Given the description of an element on the screen output the (x, y) to click on. 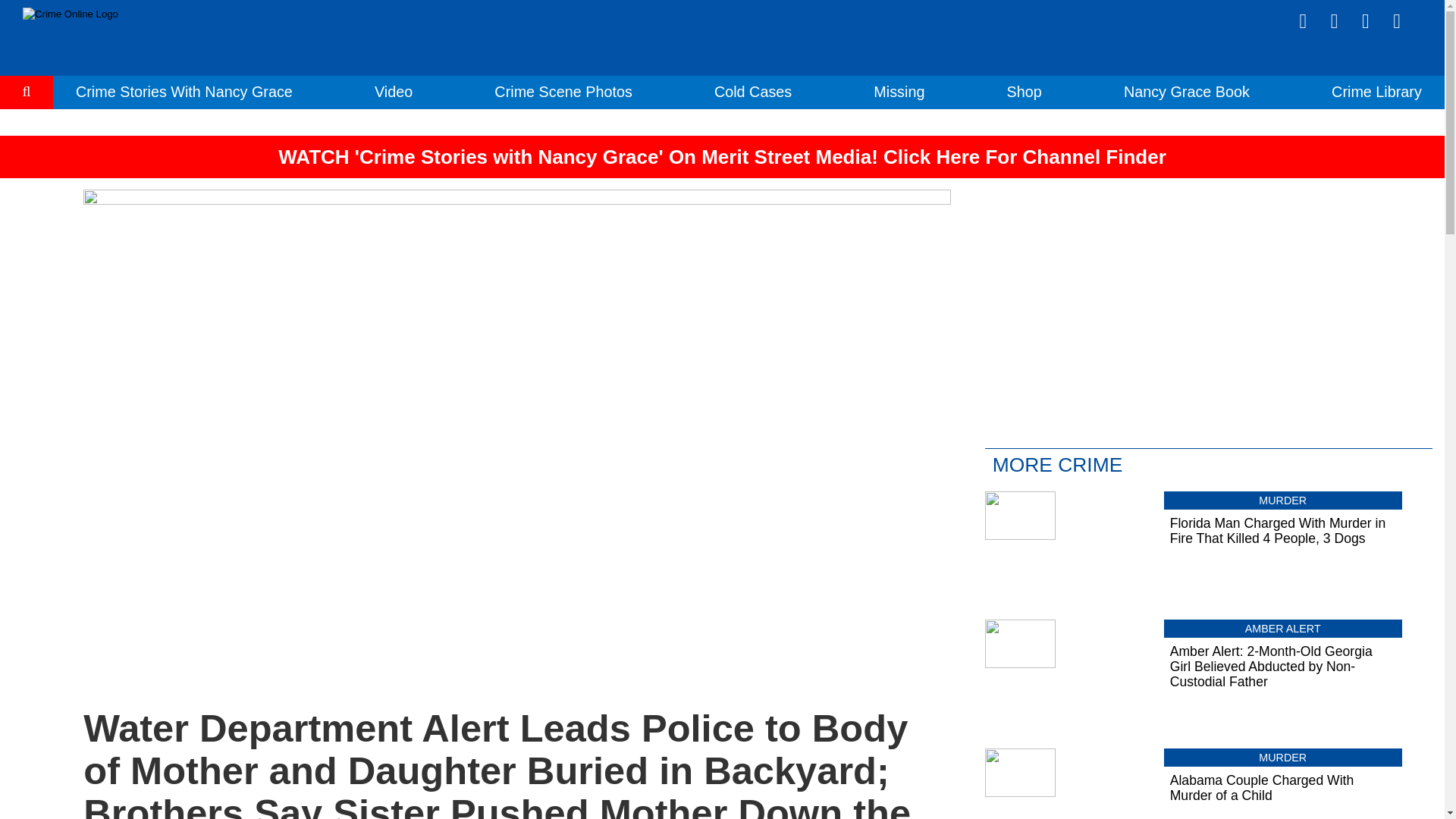
Nancy Grace Book (1186, 91)
Missing (898, 91)
Cold Cases (753, 91)
Crime Scene Photos (563, 91)
Crime Library (1377, 91)
Video (393, 91)
Search (27, 138)
Shop (1024, 91)
Crime Stories With Nancy Grace (183, 91)
